Given the description of an element on the screen output the (x, y) to click on. 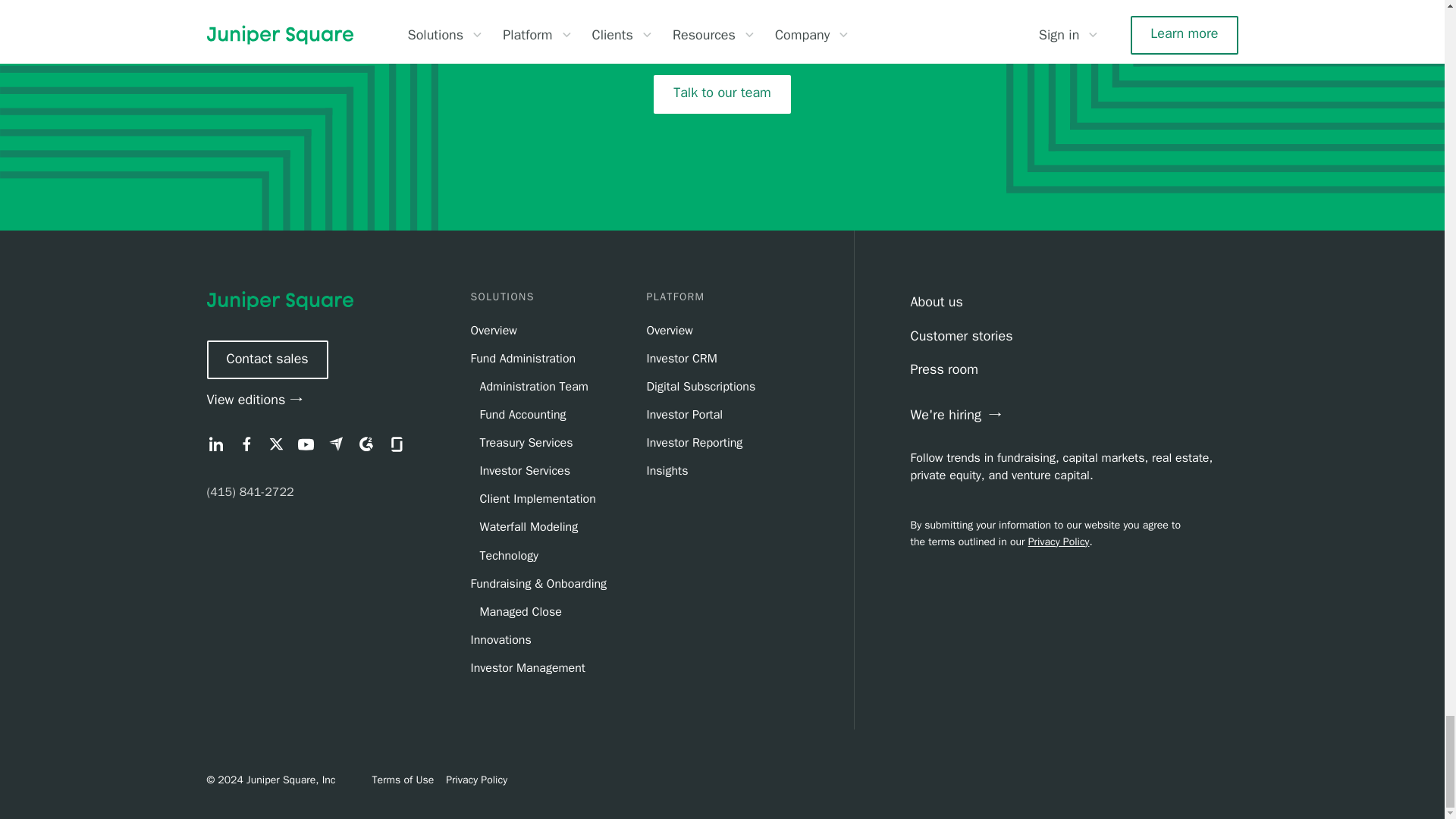
Call Juniper Square (250, 491)
